Given the description of an element on the screen output the (x, y) to click on. 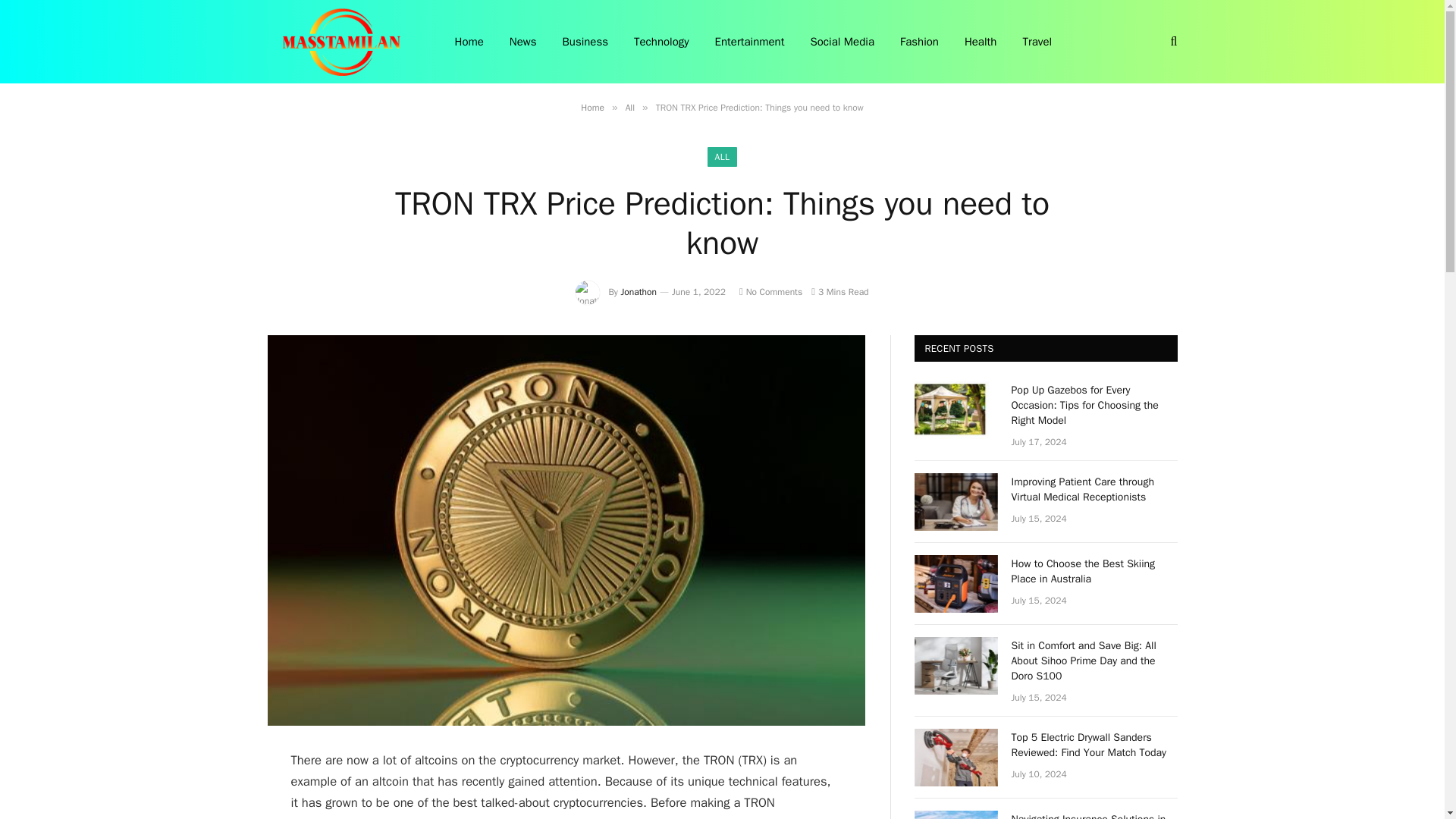
ALL (722, 157)
Entertainment (749, 41)
Masstamilan (340, 41)
Improving Patient Care through Virtual Medical Receptionists (1094, 490)
No Comments (770, 291)
Home (592, 107)
Improving Patient Care through Virtual Medical Receptionists (955, 501)
Technology (661, 41)
Social Media (841, 41)
